Given the description of an element on the screen output the (x, y) to click on. 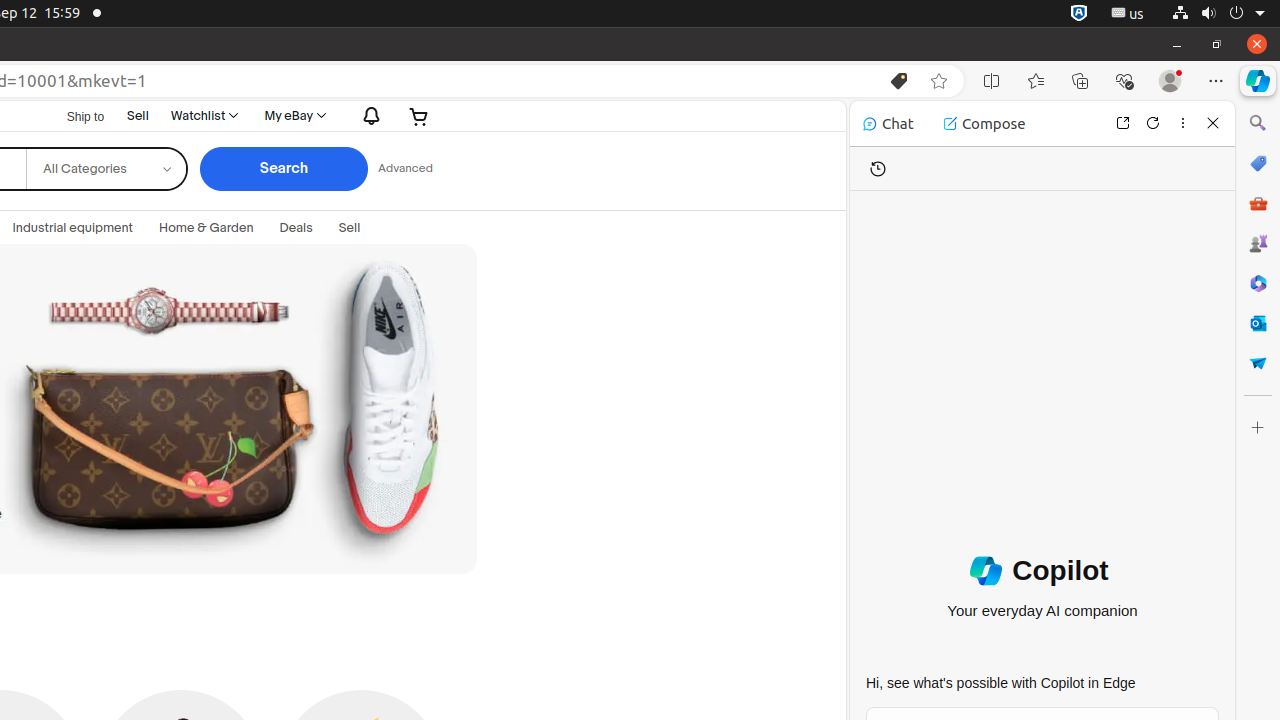
Customize Element type: push-button (1258, 428)
